Given the description of an element on the screen output the (x, y) to click on. 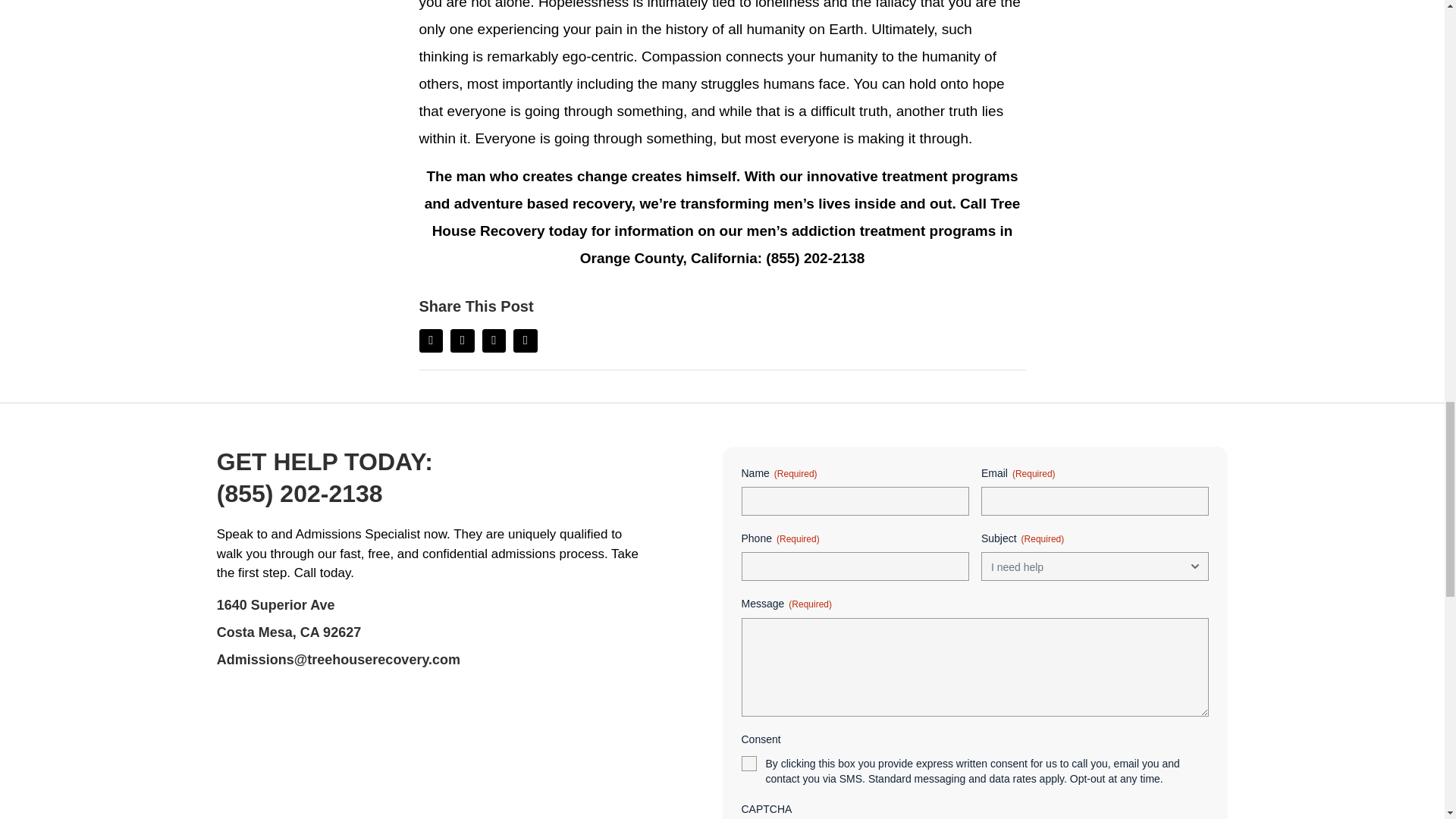
1 (749, 763)
